Given the description of an element on the screen output the (x, y) to click on. 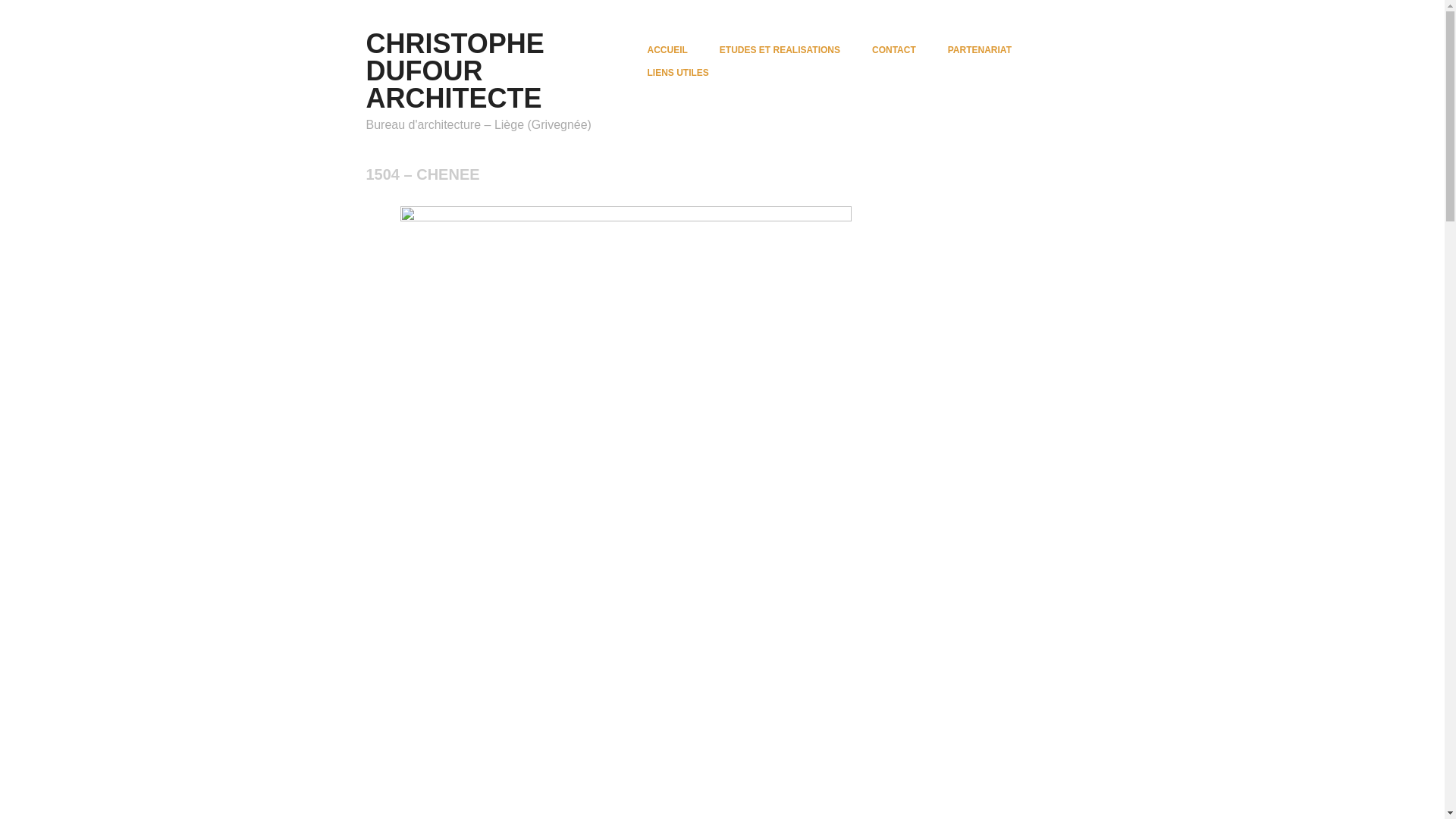
ACCUEIL Element type: text (667, 49)
CHRISTOPHE DUFOUR ARCHITECTE Element type: text (454, 70)
ETUDES ET REALISATIONS Element type: text (779, 49)
CONTACT Element type: text (894, 49)
PARTENARIAT Element type: text (979, 49)
LIENS UTILES Element type: text (678, 72)
